Given the description of an element on the screen output the (x, y) to click on. 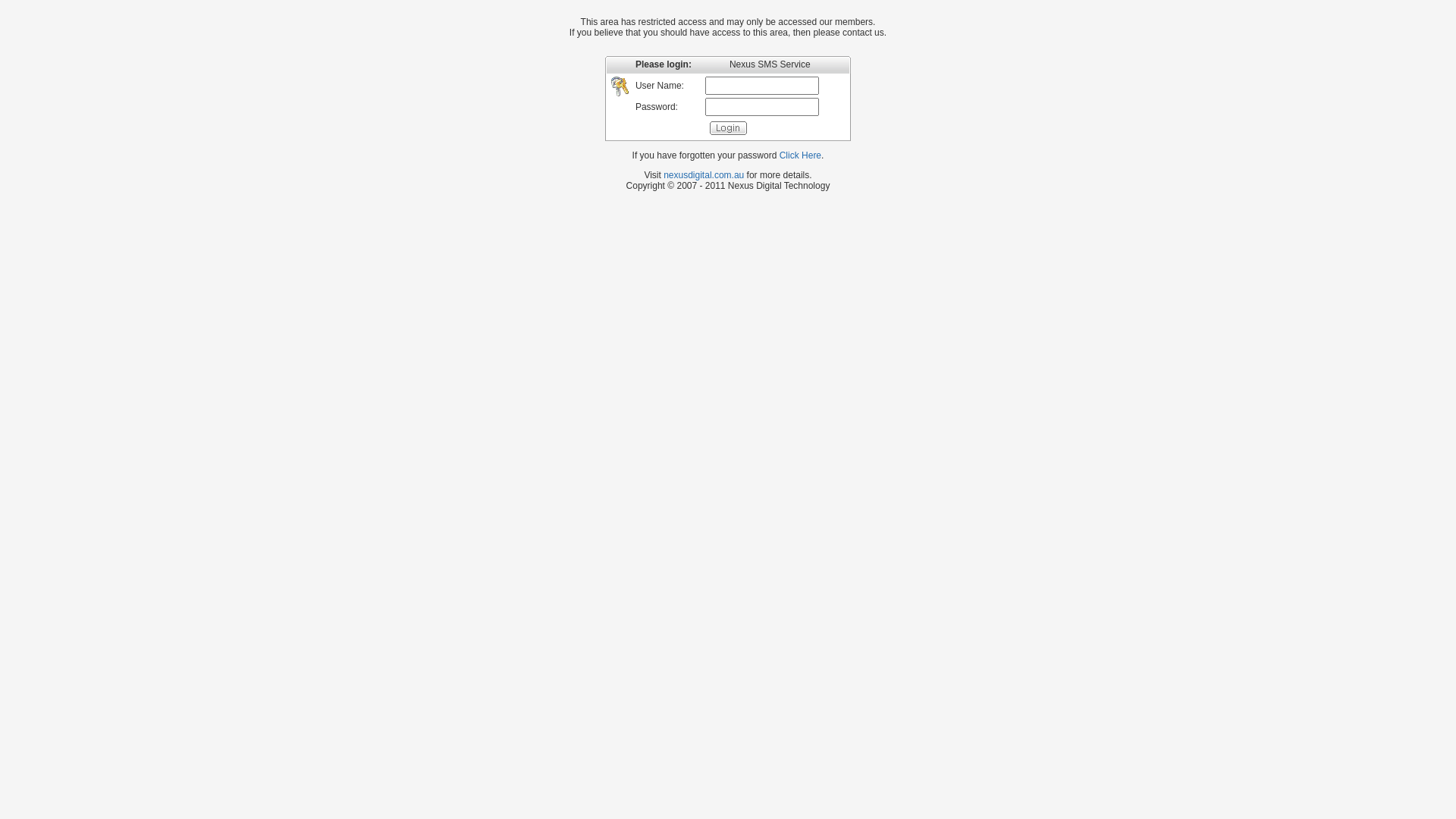
Click Here Element type: text (800, 155)
us Element type: text (879, 32)
Login Element type: hover (727, 127)
Nexus Digital Technology Element type: text (779, 185)
nexusdigital.com.au Element type: text (703, 174)
